Given the description of an element on the screen output the (x, y) to click on. 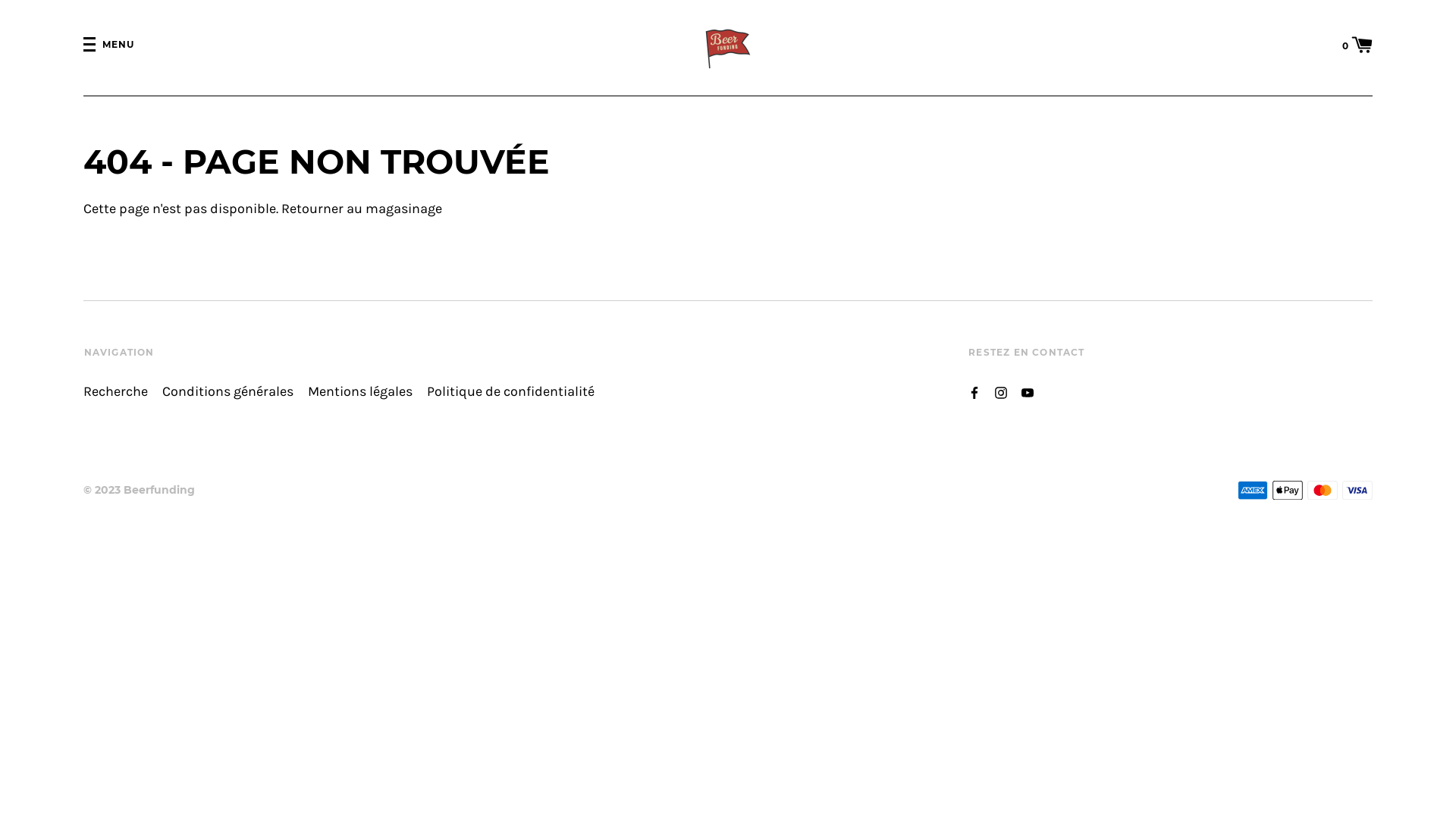
0 Element type: text (1357, 43)
Beerfunding on YouTube Element type: hover (1027, 390)
Beerfunding on Facebook Element type: hover (974, 390)
Recherche Element type: text (115, 392)
MENU Element type: text (108, 45)
Beerfunding on Instagram Element type: hover (1000, 390)
Beerfunding Element type: text (158, 489)
Retourner au magasinage Element type: text (361, 208)
